Given the description of an element on the screen output the (x, y) to click on. 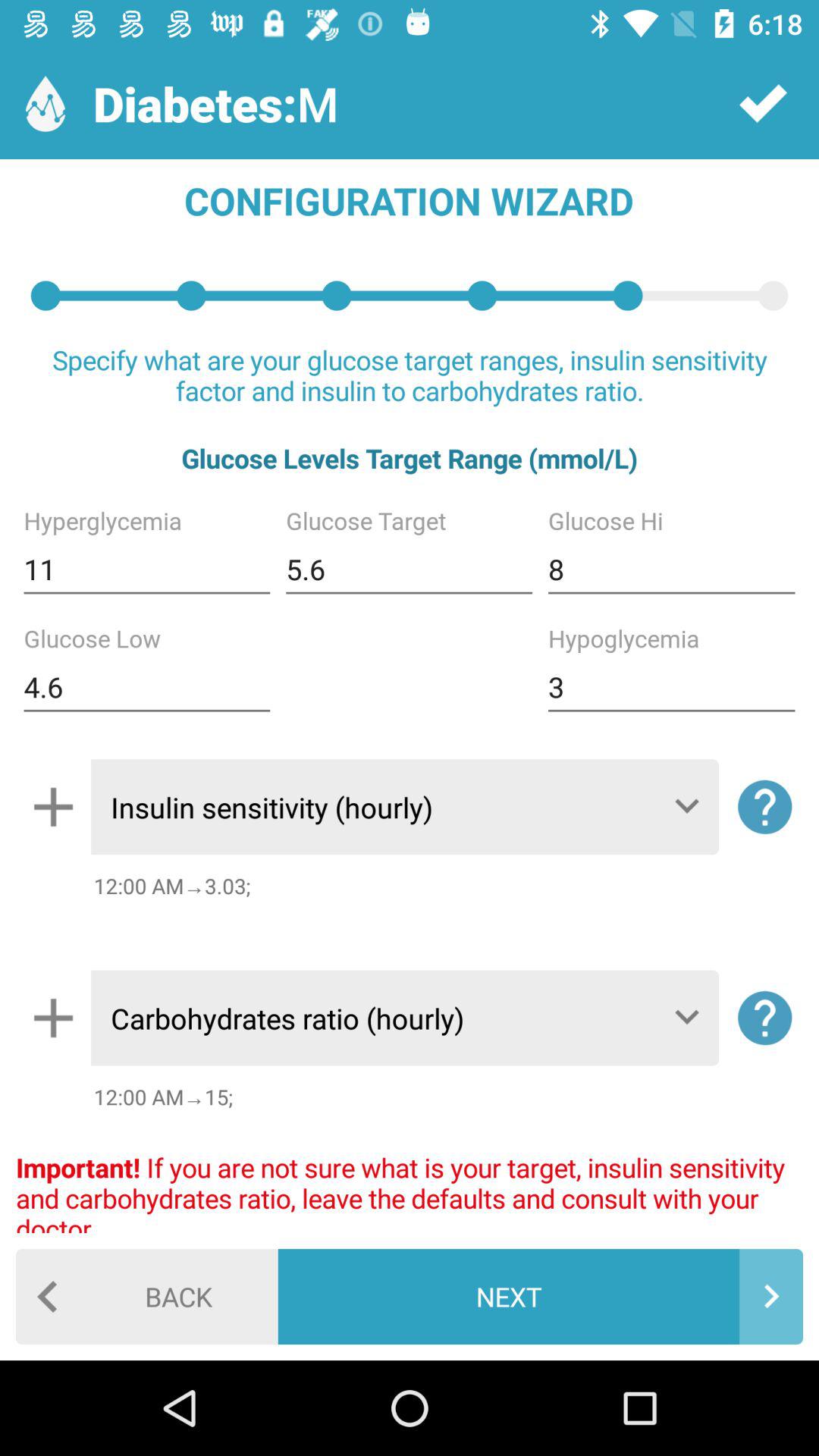
select the icon below the glucose levels target icon (671, 569)
